Given the description of an element on the screen output the (x, y) to click on. 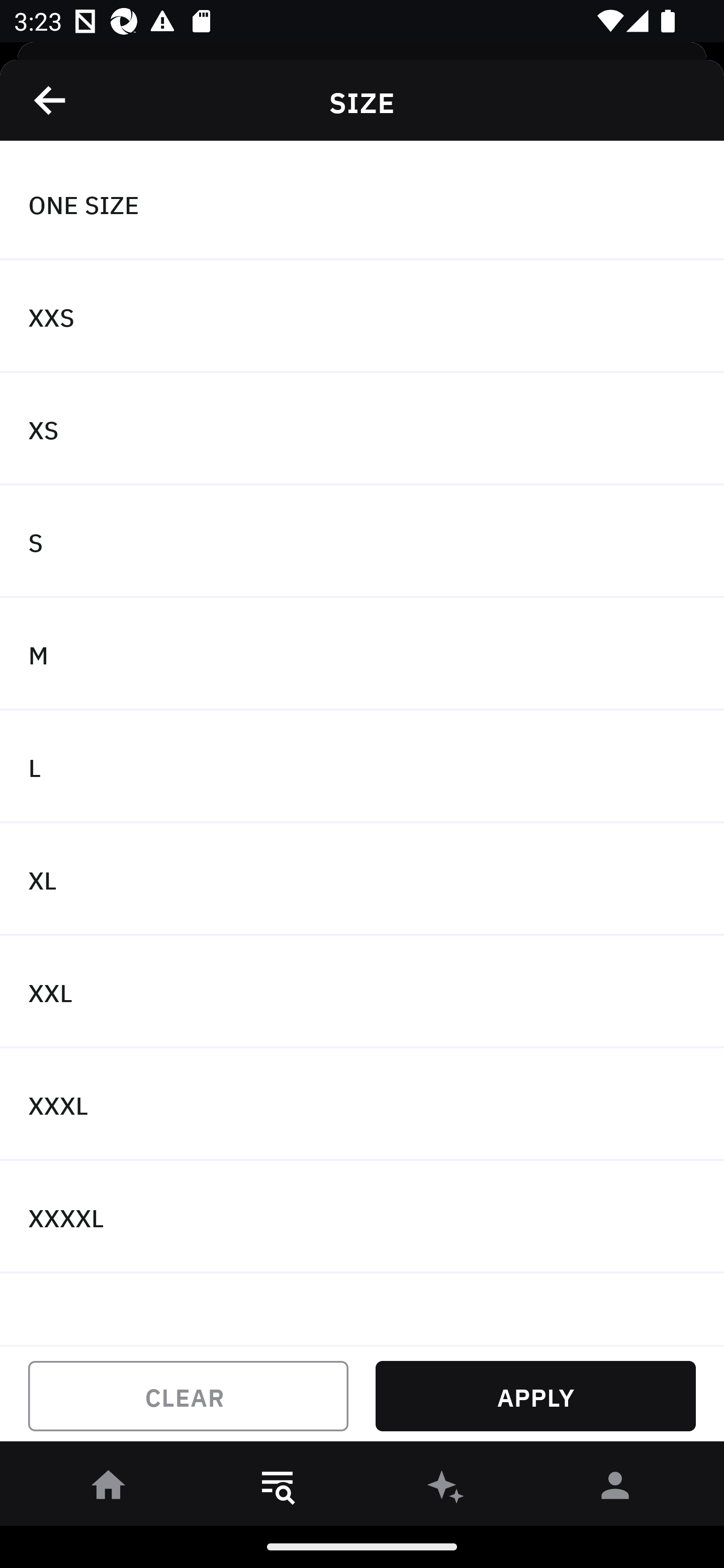
 (50, 100)
ONE SIZE (362, 203)
XXS (362, 316)
XS (362, 429)
S (362, 541)
M (362, 653)
L (362, 766)
XL (362, 879)
XXL (362, 992)
XXXL (362, 1104)
XXXXL (362, 1216)
CLEAR  (188, 1396)
APPLY (535, 1396)
󰋜 (108, 1488)
󱎸 (277, 1488)
󰫢 (446, 1488)
󰀄 (615, 1488)
